Given the description of an element on the screen output the (x, y) to click on. 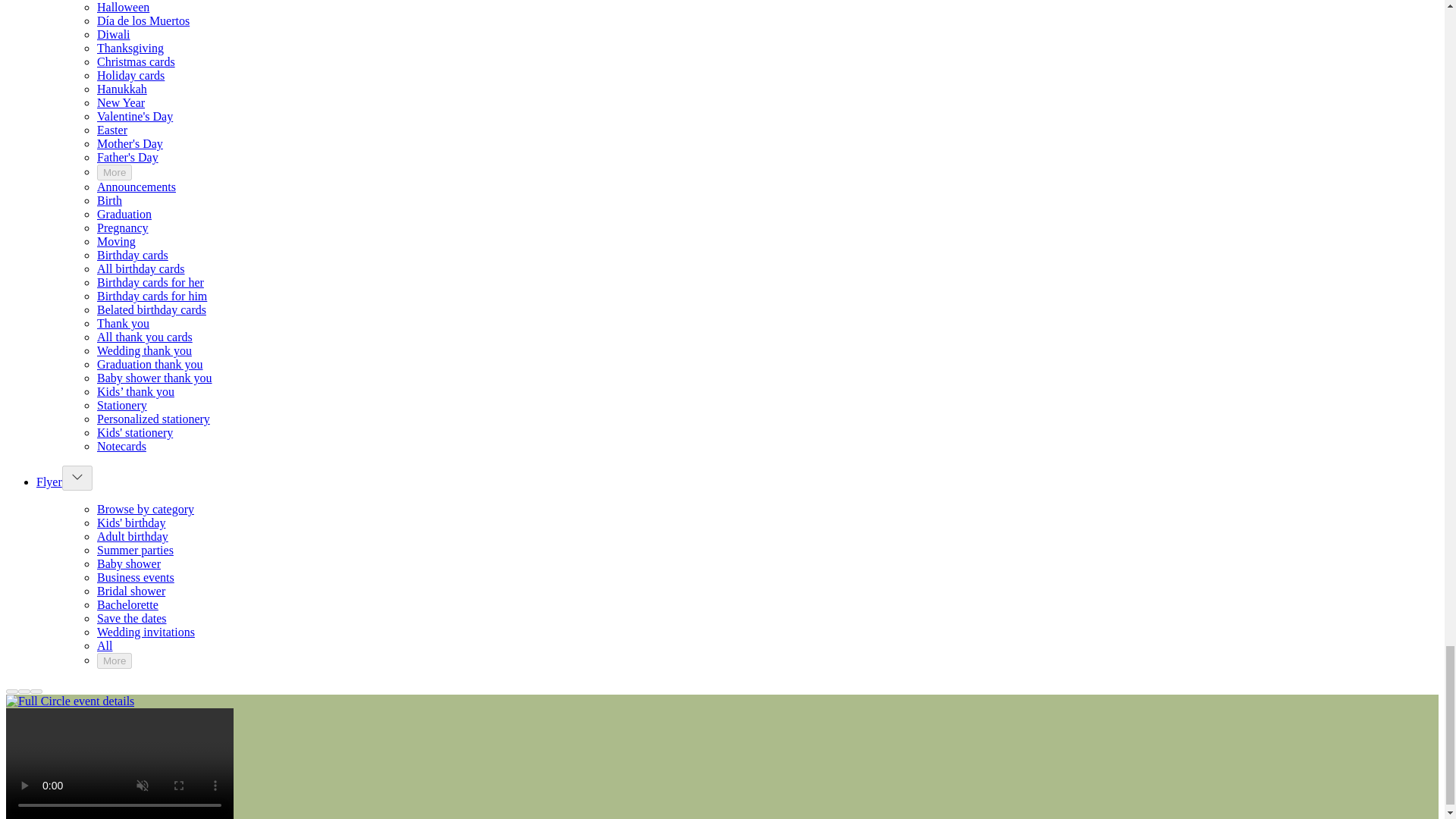
show Flyer sub categories (76, 476)
